Given the description of an element on the screen output the (x, y) to click on. 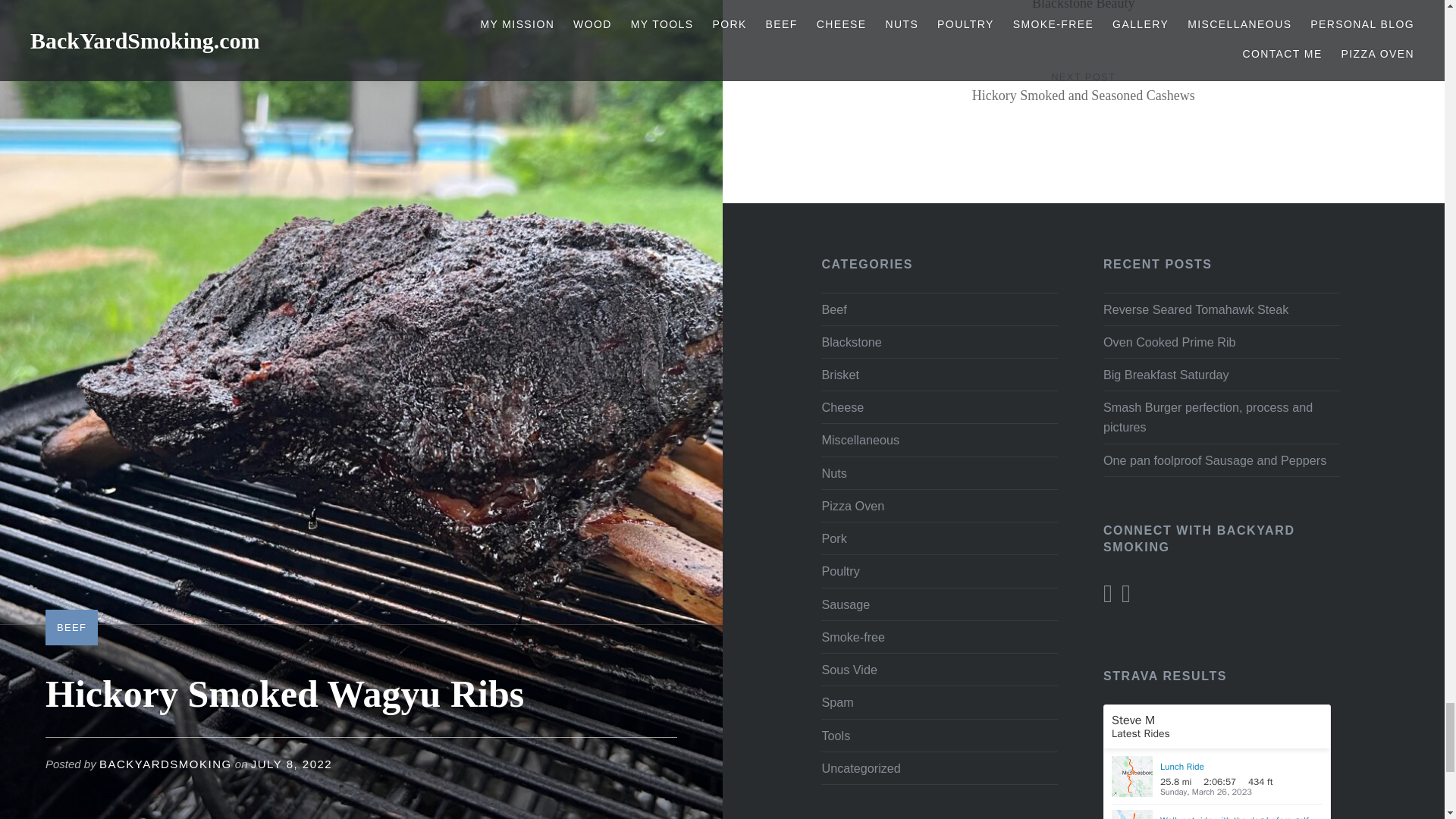
Smoke-free (853, 636)
Pizza Oven (852, 505)
Reverse Seared Tomahawk Steak (1221, 308)
Blackstone (850, 341)
Oven Cooked Prime Rib (1221, 342)
Pork (1083, 101)
Beef (833, 538)
Sausage (833, 308)
Uncategorized (845, 603)
Nuts (1083, 20)
Cheese (860, 767)
Spam (833, 472)
Brisket (842, 407)
